Given the description of an element on the screen output the (x, y) to click on. 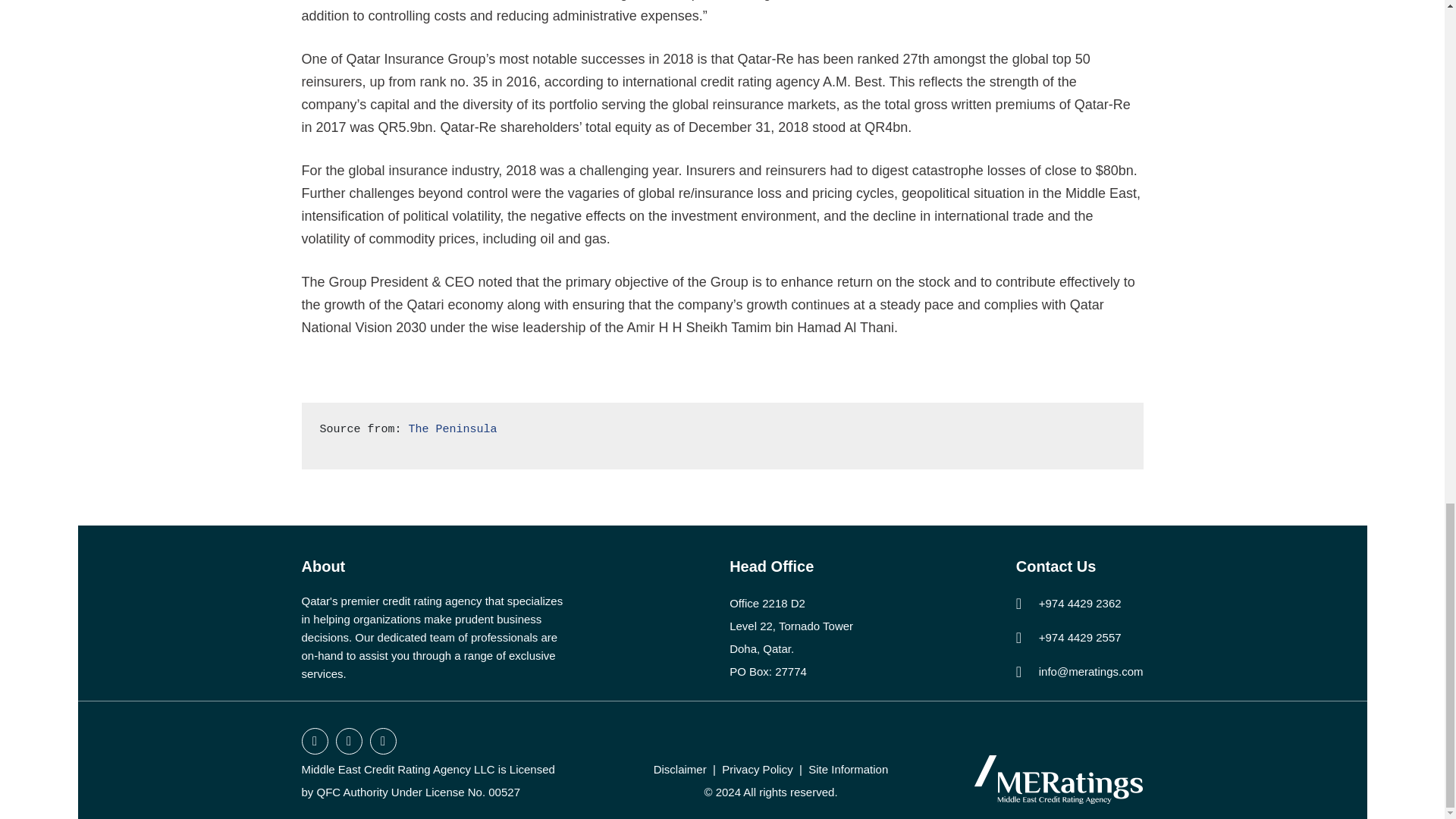
The Peninsula (453, 429)
Site Information (848, 768)
Privacy Policy (757, 768)
Disclaimer (679, 768)
